Given the description of an element on the screen output the (x, y) to click on. 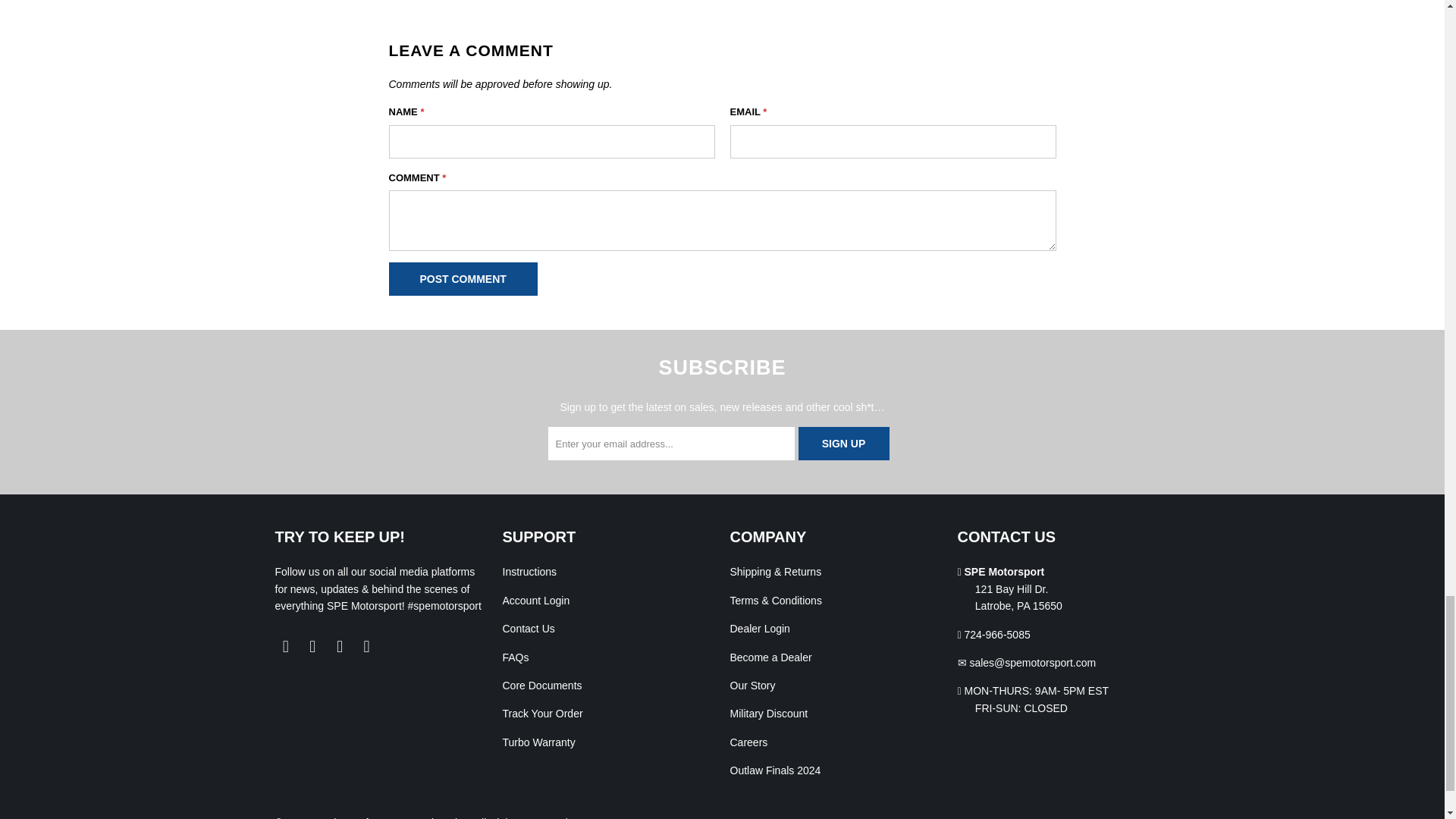
Snyder Performance Engineering on Facebook (286, 647)
Email Snyder Performance Engineering (366, 647)
Sign Up (842, 443)
Snyder Performance Engineering on Instagram (340, 647)
Post comment (462, 278)
Snyder Performance Engineering on YouTube (312, 647)
